Given the description of an element on the screen output the (x, y) to click on. 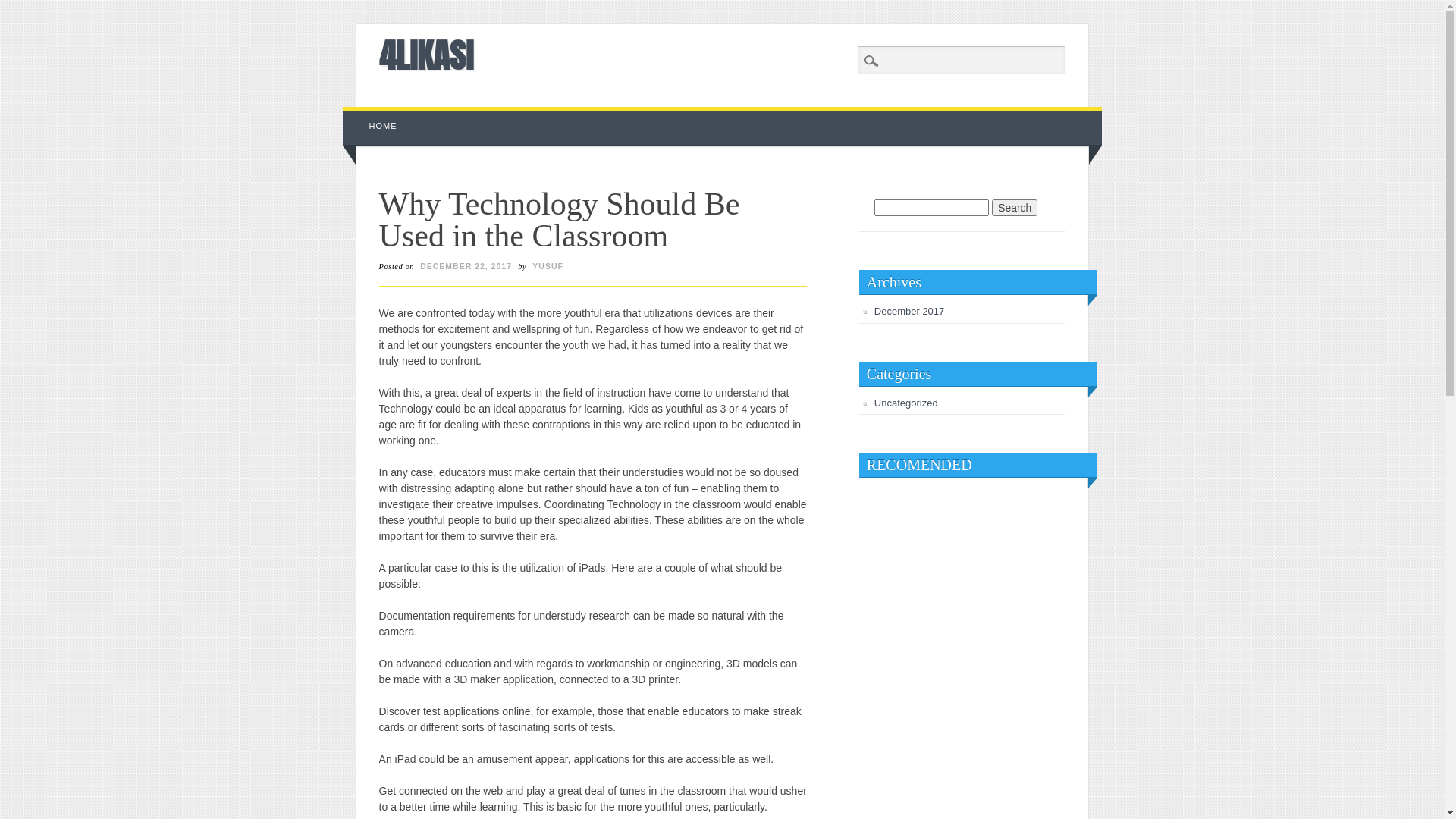
December 2017 Element type: text (909, 310)
Skip to content Element type: text (377, 114)
YUSUF Element type: text (547, 265)
Search Element type: text (22, 8)
HOME Element type: text (383, 125)
Search Element type: text (1014, 207)
4LIKASI Element type: text (426, 55)
DECEMBER 22, 2017 Element type: text (465, 265)
Uncategorized Element type: text (906, 402)
